Given the description of an element on the screen output the (x, y) to click on. 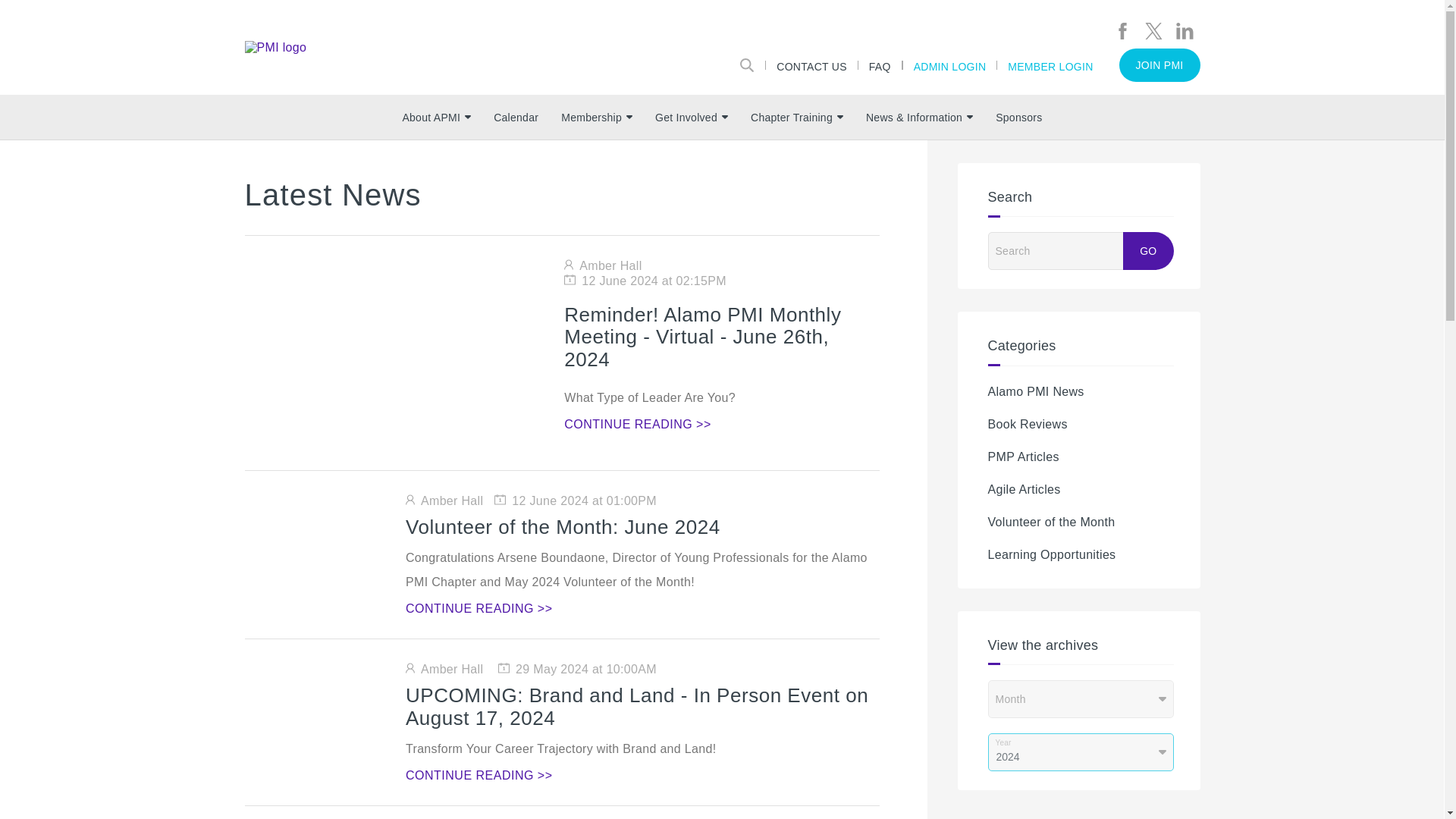
Calendar (515, 117)
JOIN PMI (1159, 64)
CONTACT US (811, 64)
ADMIN LOGIN (949, 64)
Membership (596, 117)
Search (747, 63)
FAQ (880, 64)
About APMI (435, 117)
MEMBER LOGIN (1050, 64)
Search (1070, 250)
Get Involved (691, 117)
Chapter Training (796, 117)
